Given the description of an element on the screen output the (x, y) to click on. 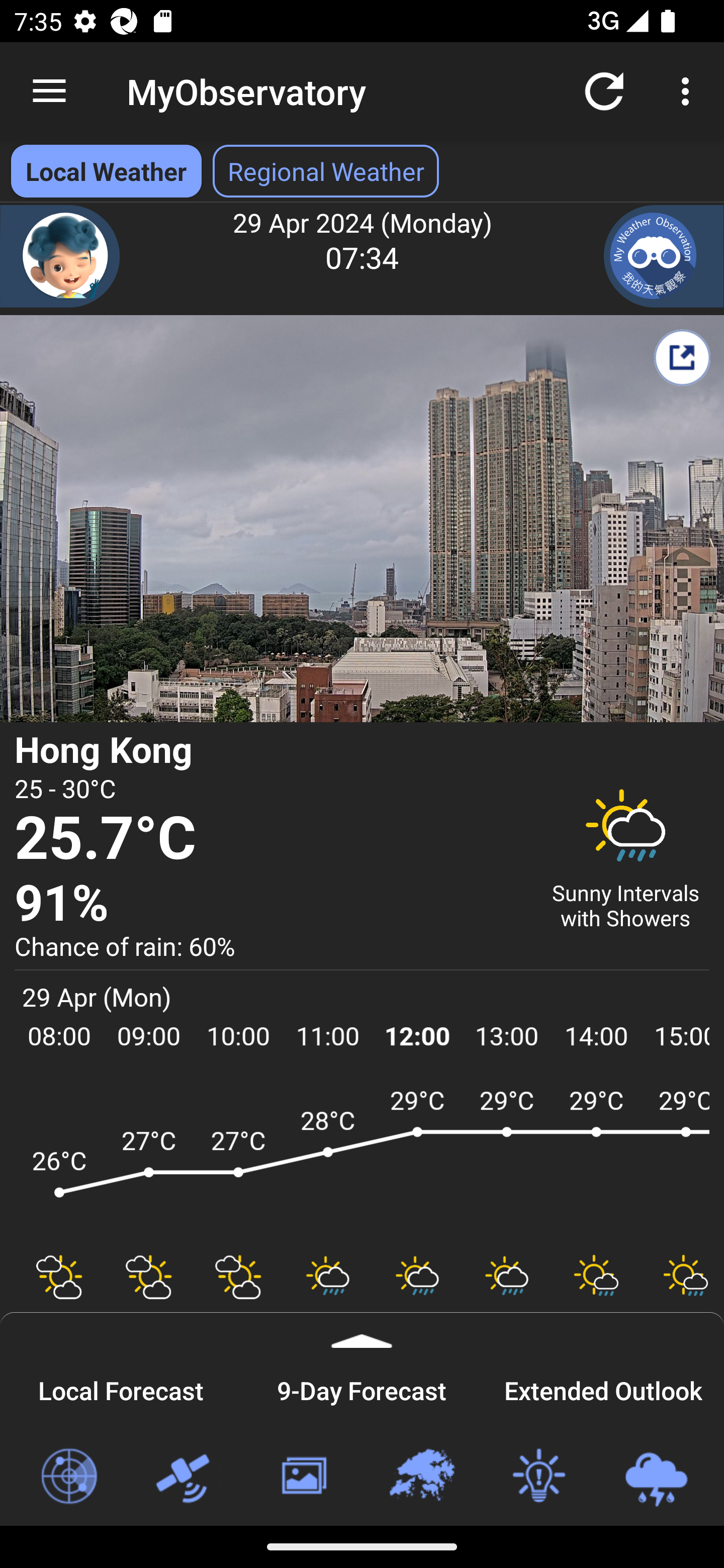
Navigate up (49, 91)
Refresh (604, 90)
More options (688, 90)
Local Weather Local Weather selected (105, 170)
Regional Weather Select Regional Weather (325, 170)
Chatbot (60, 256)
My Weather Observation (663, 256)
Share My Weather Report (681, 357)
25.7°C Temperature
25.7 degree Celsius (270, 839)
91% Relative Humidity
91 percent (270, 903)
ARWF (361, 1160)
Expand (362, 1330)
Local Forecast (120, 1387)
Extended Outlook (603, 1387)
Radar Images (68, 1476)
Satellite Images (185, 1476)
Weather Photos (302, 1476)
Regional Weather (420, 1476)
Weather Tips (537, 1476)
Loc-based Rain & Lightning Forecast (655, 1476)
